Given the description of an element on the screen output the (x, y) to click on. 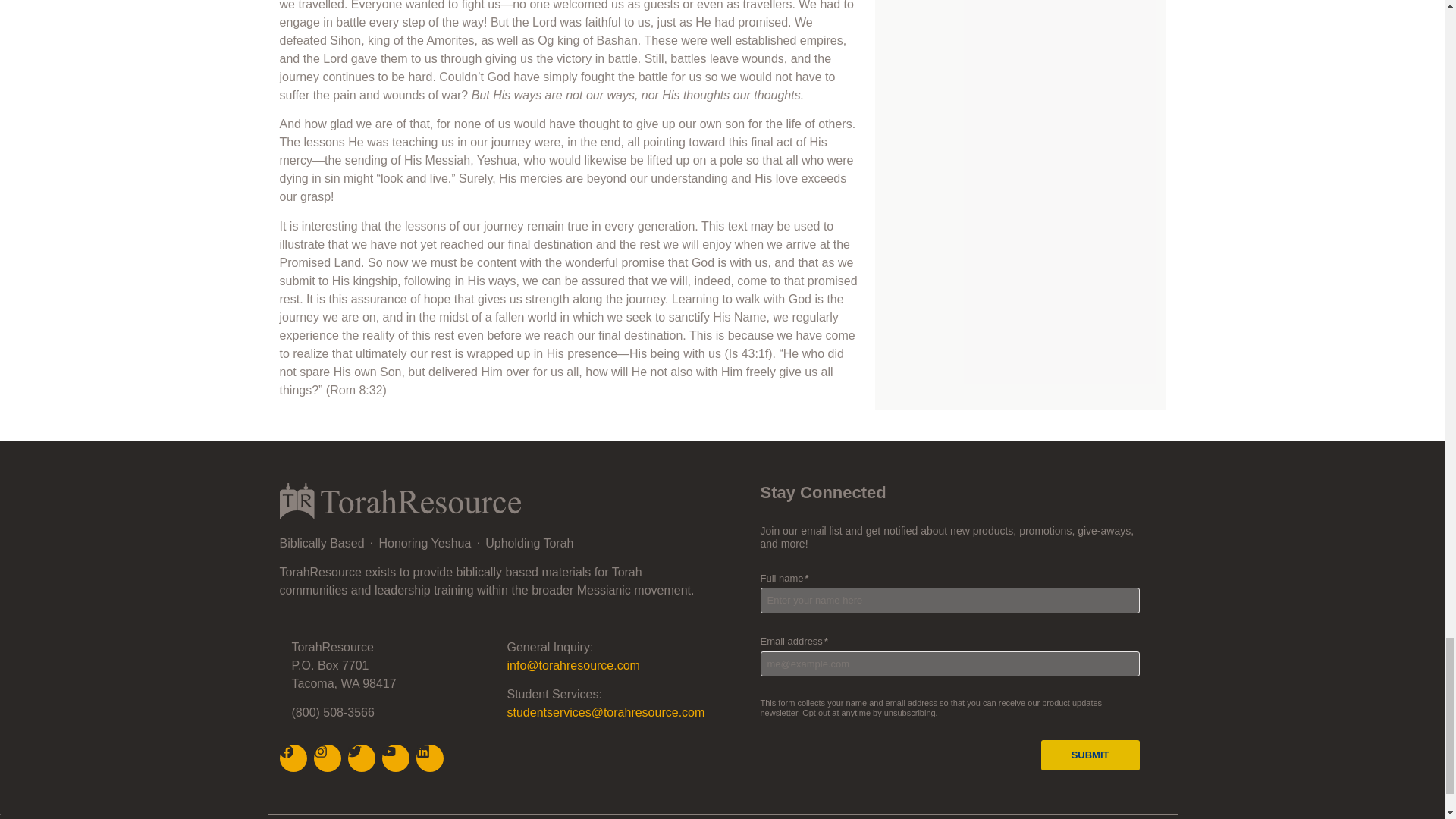
SUBMIT (1090, 755)
